Given the description of an element on the screen output the (x, y) to click on. 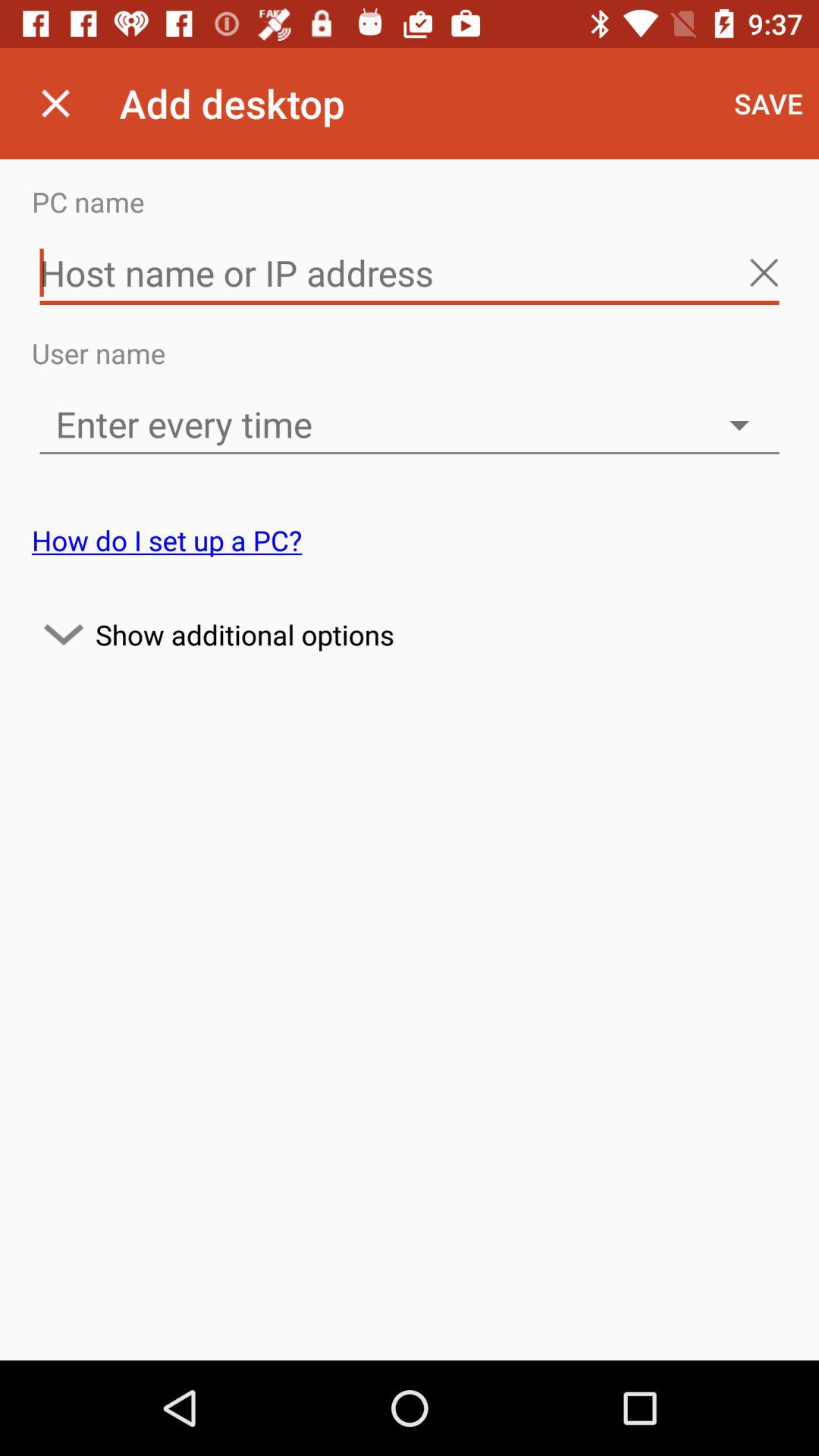
choose the icon next to the add desktop app (55, 103)
